Given the description of an element on the screen output the (x, y) to click on. 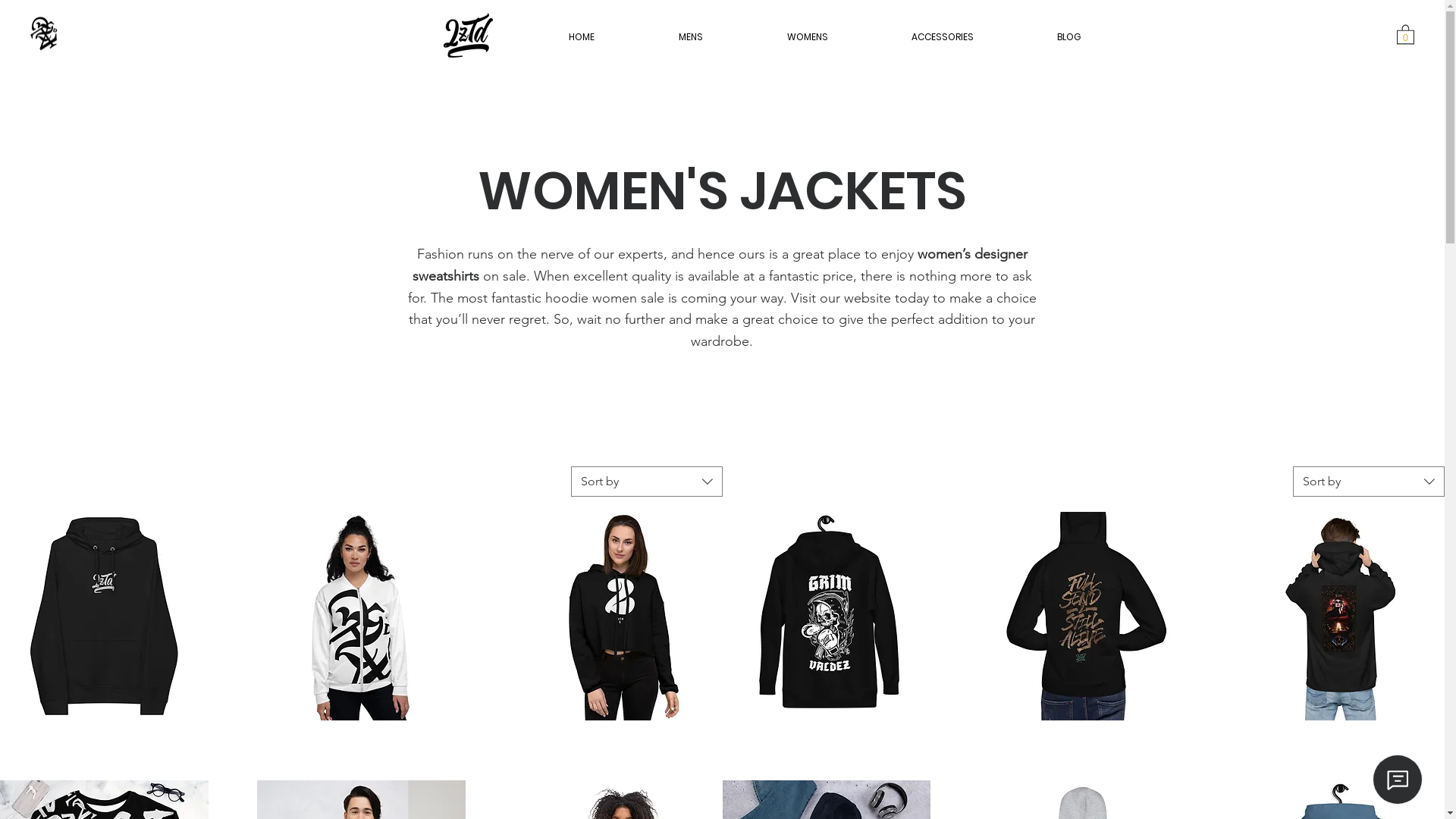
HOME Element type: text (581, 29)
Sort by Element type: text (1368, 481)
Sort by Element type: text (645, 481)
BLOG Element type: text (1068, 29)
0 Element type: text (1405, 33)
